Given the description of an element on the screen output the (x, y) to click on. 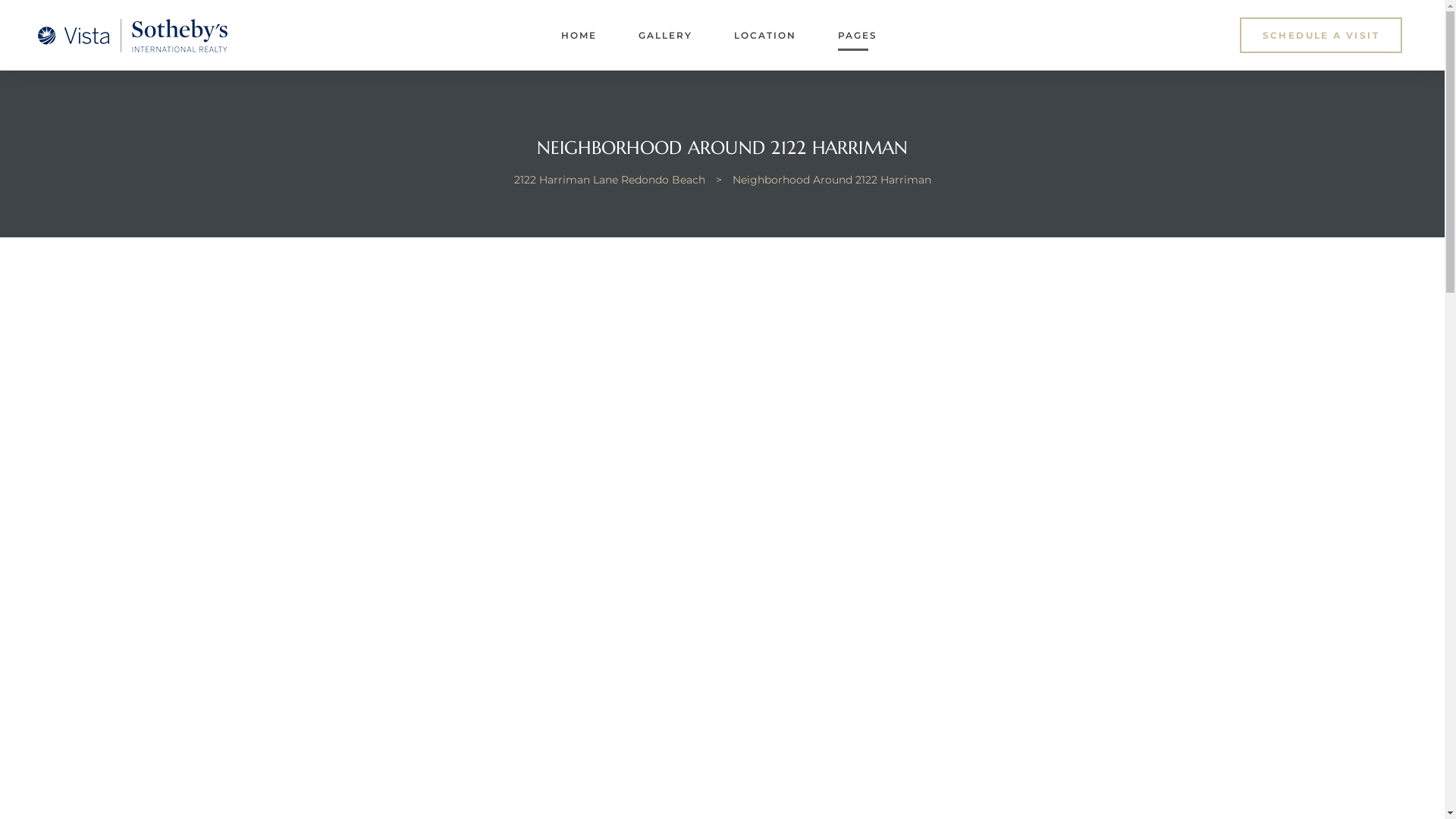
PAGES Element type: text (857, 35)
LOCATION Element type: text (765, 35)
HOME Element type: text (578, 35)
SCHEDULE A VISIT Element type: text (1320, 35)
GALLERY Element type: text (665, 35)
2122 Harriman Lane Redondo Beach Element type: text (608, 179)
